Given the description of an element on the screen output the (x, y) to click on. 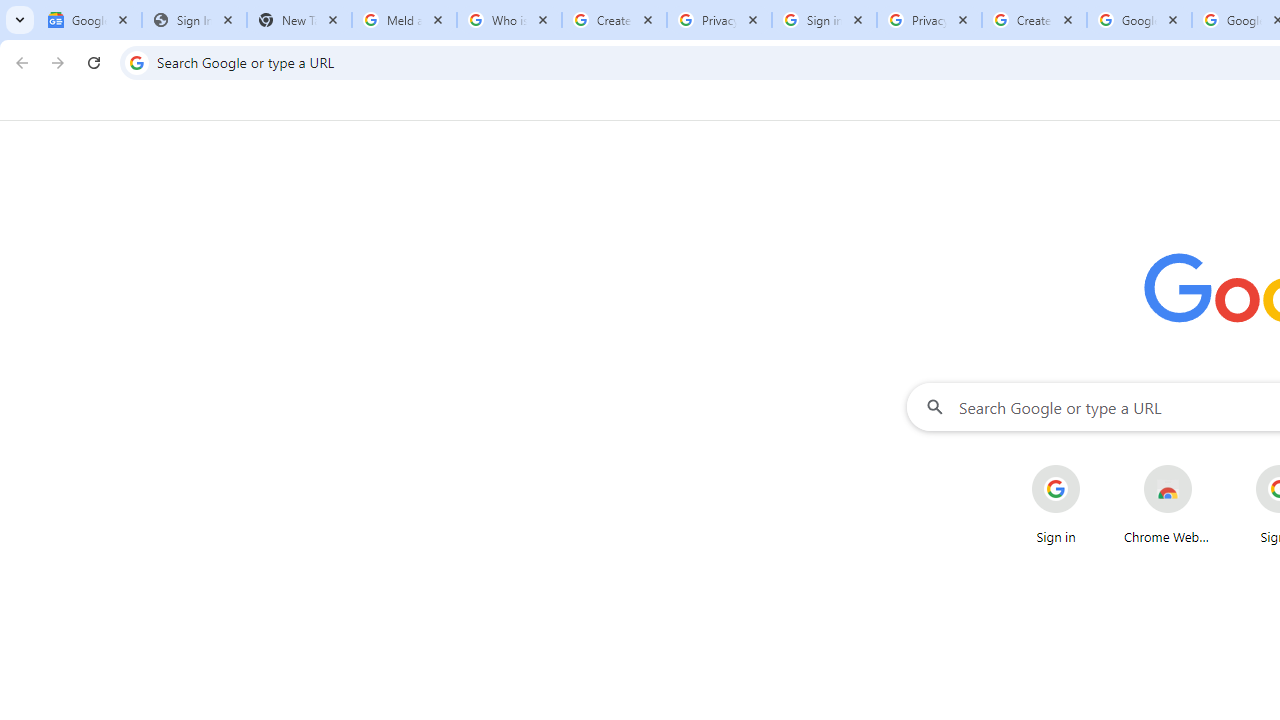
Google News (89, 20)
Create your Google Account (613, 20)
Chrome Web Store (1167, 504)
More actions for Chrome Web Store shortcut (1208, 466)
Sign in - Google Accounts (823, 20)
